Given the description of an element on the screen output the (x, y) to click on. 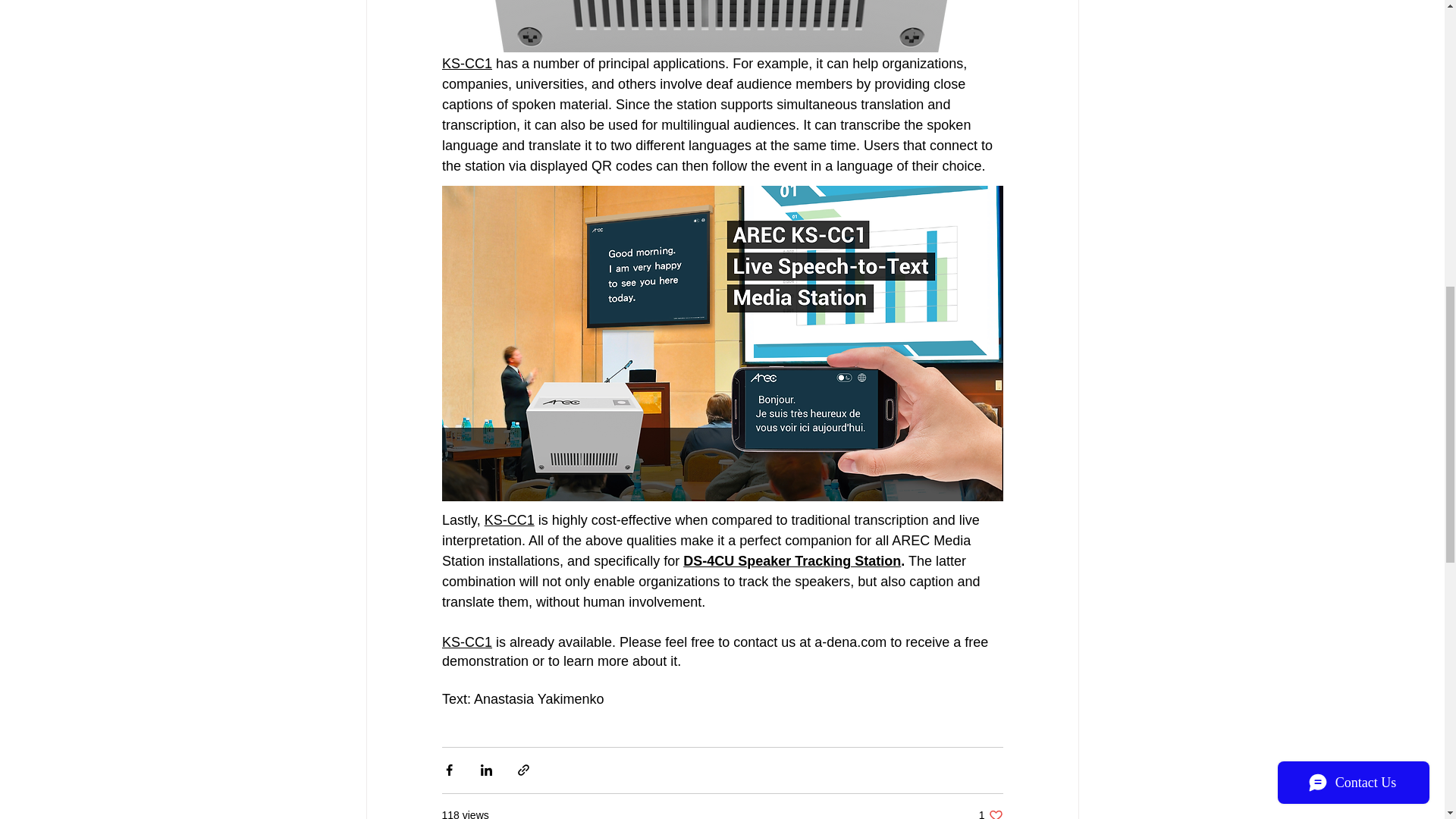
KS-CC1 (466, 63)
DS-4CU Speaker Tracking Station (791, 560)
KS-CC1 (990, 813)
KS-CC1 (466, 642)
